Given the description of an element on the screen output the (x, y) to click on. 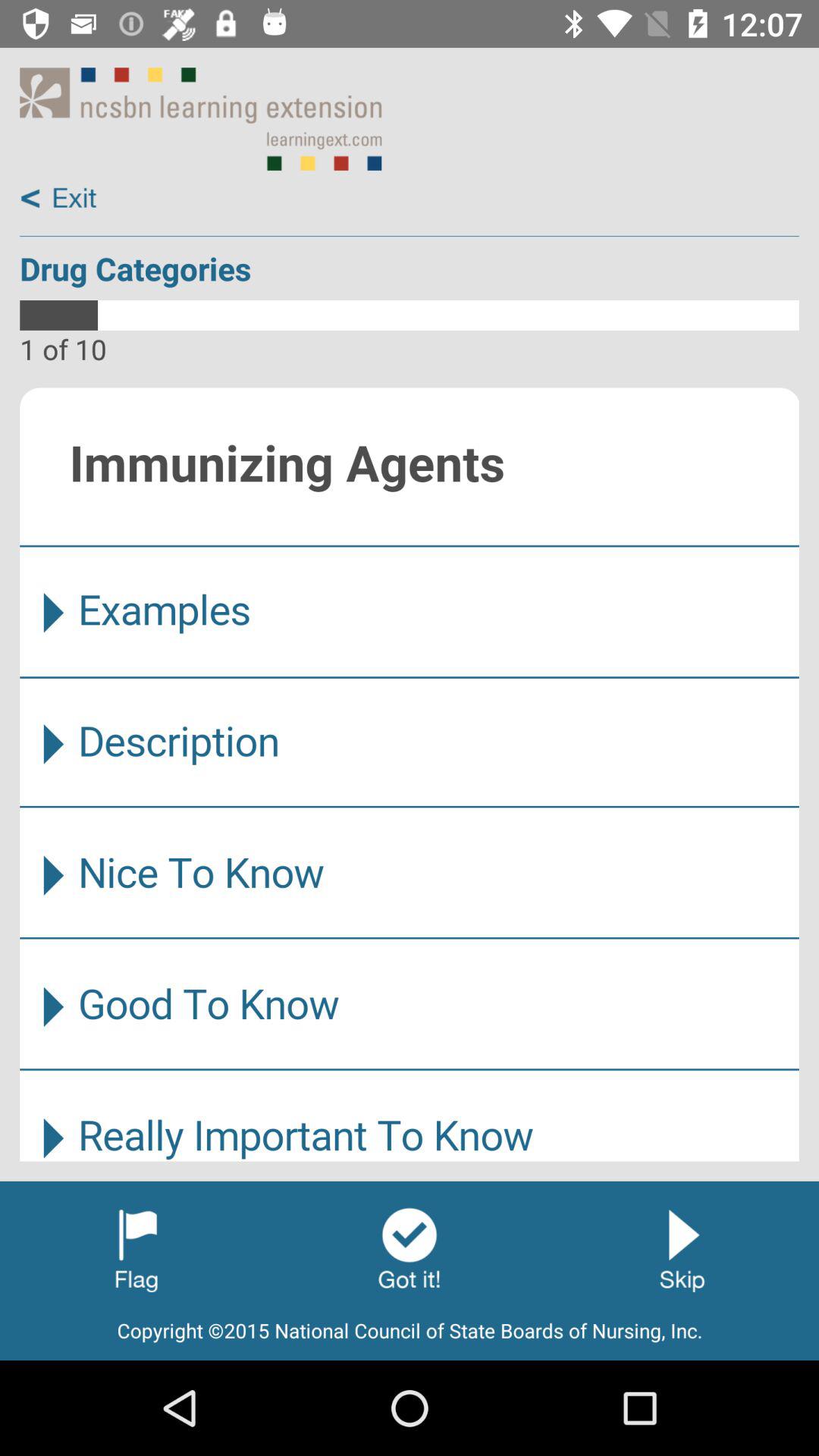
ok (409, 1248)
